Given the description of an element on the screen output the (x, y) to click on. 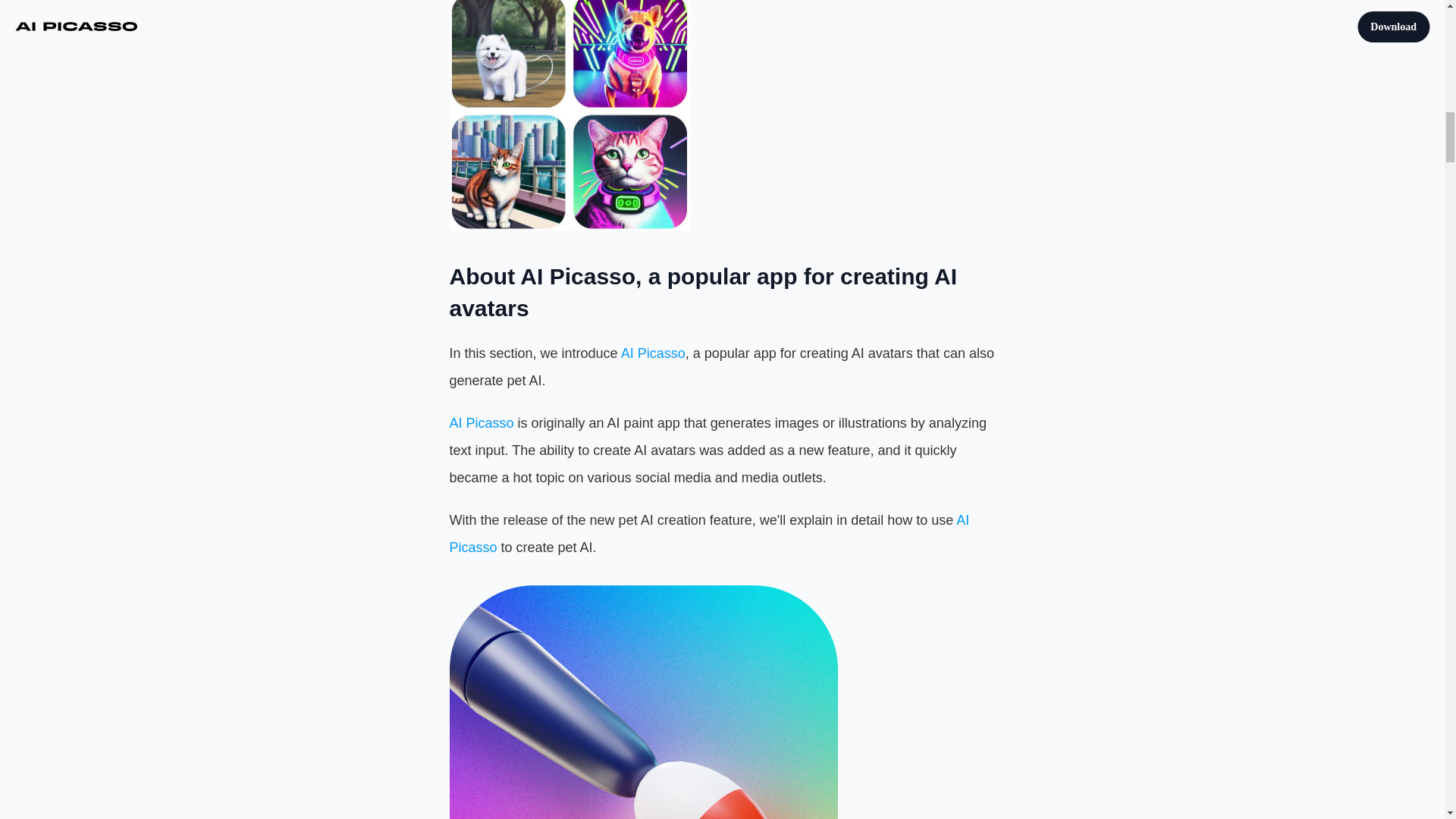
AI Picasso (710, 533)
AI Picasso (653, 353)
AI Picasso (480, 422)
